Given the description of an element on the screen output the (x, y) to click on. 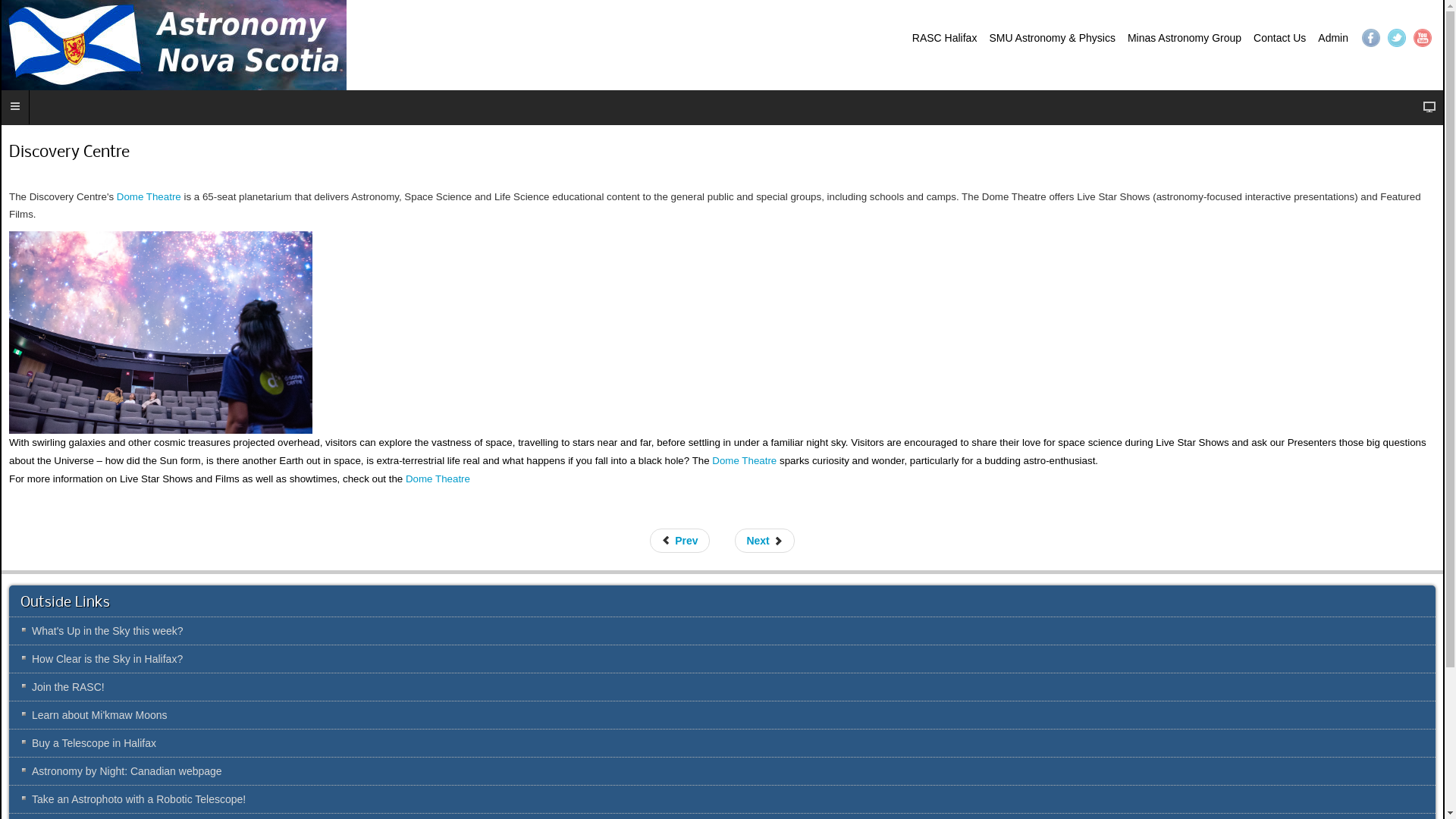
Twitter Element type: text (1396, 37)
Buy a Telescope in Halifax Element type: text (722, 742)
Dome Theatre Element type: text (744, 460)
Facebook Element type: text (1370, 37)
Prev Element type: text (679, 540)
SMU Astronomy & Physics Element type: text (1051, 37)
Astronomy Nova Scotia Element type: hover (173, 45)
Dome Theatre Element type: text (437, 478)
Learn about Mi'kmaw Moons Element type: text (722, 714)
RASC Halifax Element type: text (944, 37)
Astronomy by Night: Canadian webpage Element type: text (722, 770)
How Clear is the Sky in Halifax? Element type: text (722, 658)
What's Up in the Sky this week? Element type: text (722, 630)
Take an Astrophoto with a Robotic Telescope! Element type: text (722, 798)
Admin Element type: text (1332, 37)
Contact Us Element type: text (1279, 37)
Dome Theatre Element type: text (148, 196)
YouTube Element type: text (1422, 37)
Join the RASC! Element type: text (722, 686)
Minas Astronomy Group Element type: text (1184, 37)
Next Element type: text (763, 540)
